Given the description of an element on the screen output the (x, y) to click on. 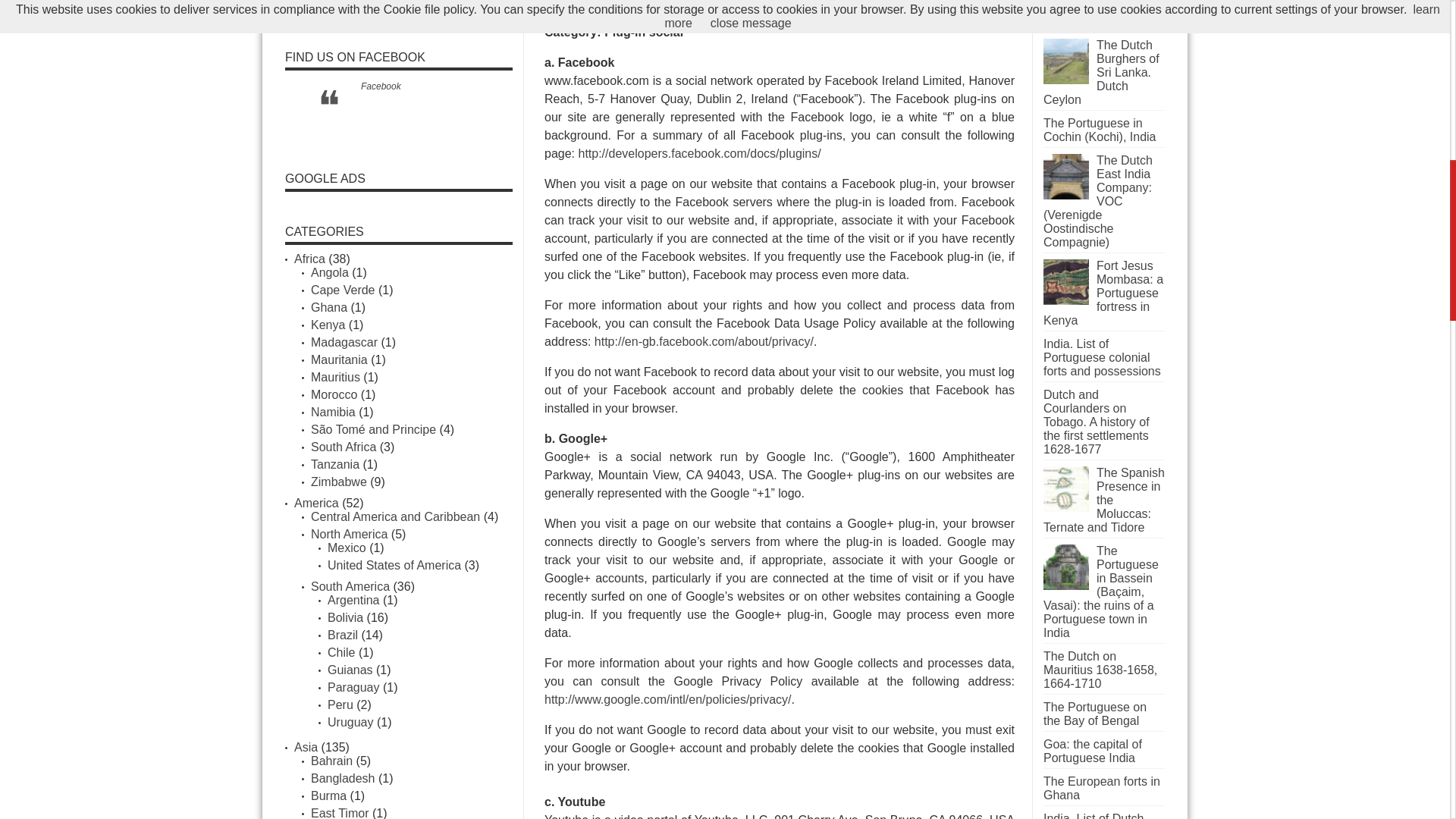
Permalink to The Dutch Burghers of Sri Lanka. Dutch Ceylon (1066, 79)
